Given the description of an element on the screen output the (x, y) to click on. 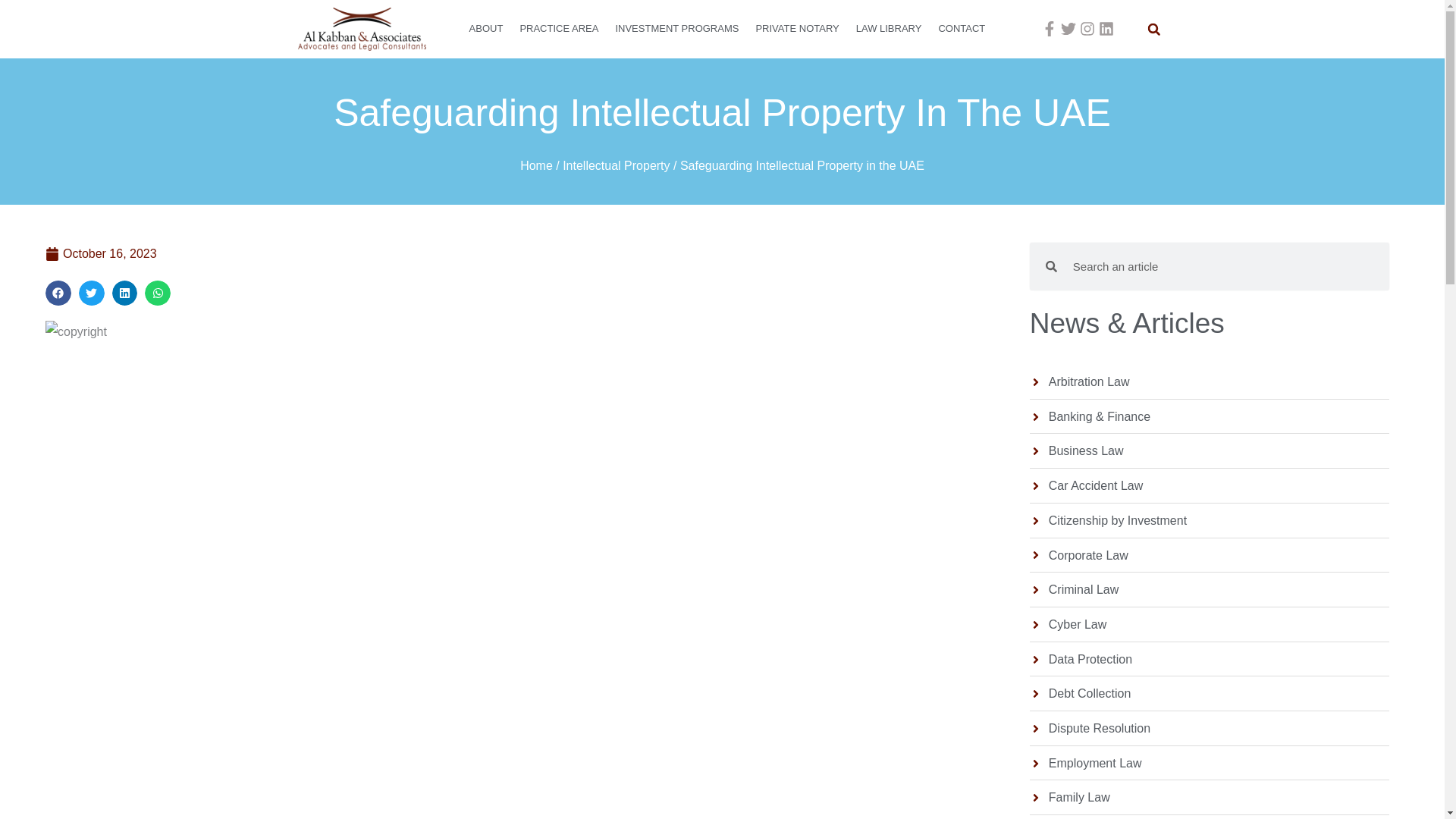
CONTACT (961, 28)
PRIVATE NOTARY (796, 28)
PRACTICE AREA (559, 28)
LAW LIBRARY (888, 28)
ABOUT (486, 28)
INVESTMENT PROGRAMS (676, 28)
